Given the description of an element on the screen output the (x, y) to click on. 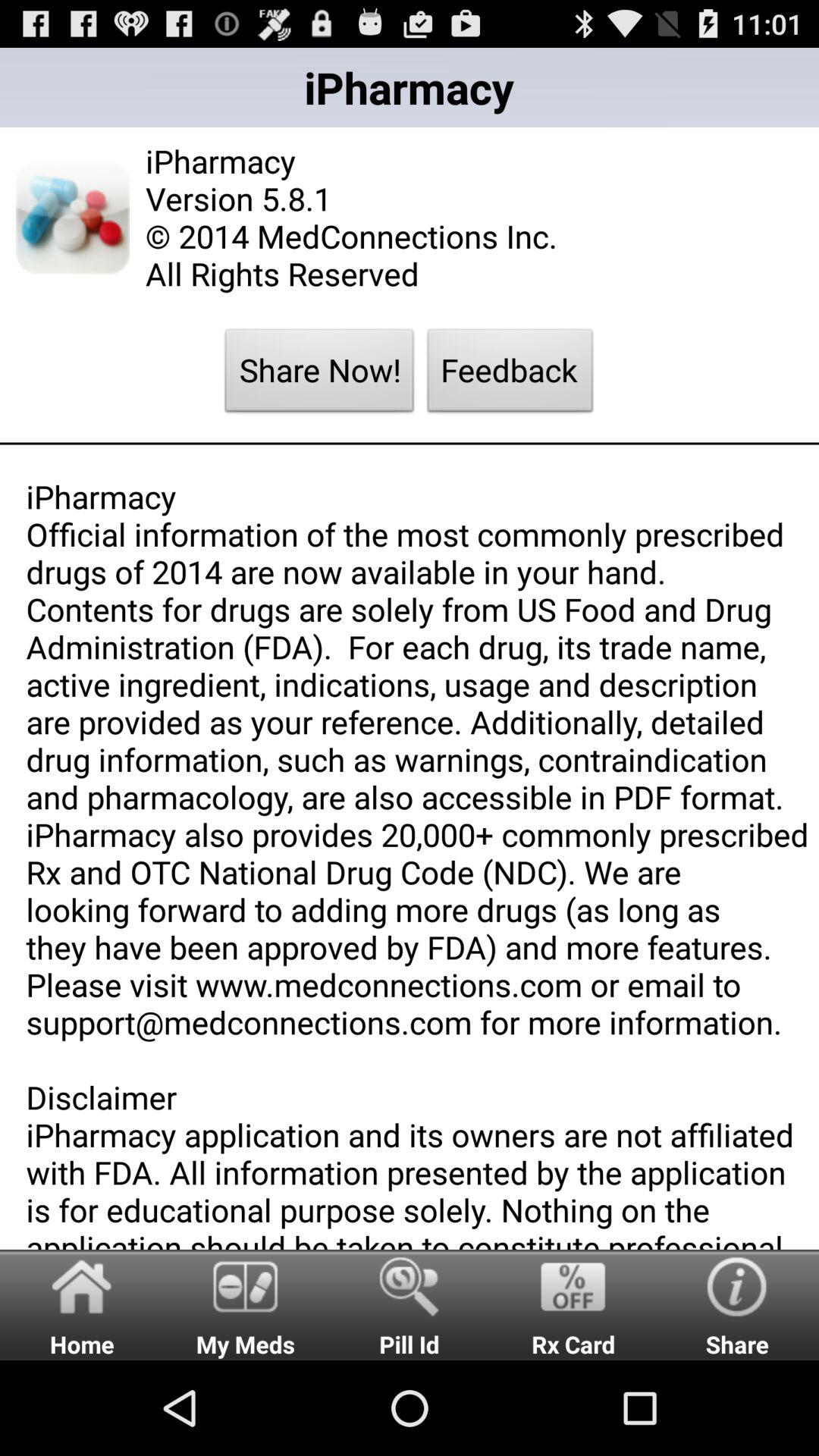
turn on home item (81, 1304)
